Given the description of an element on the screen output the (x, y) to click on. 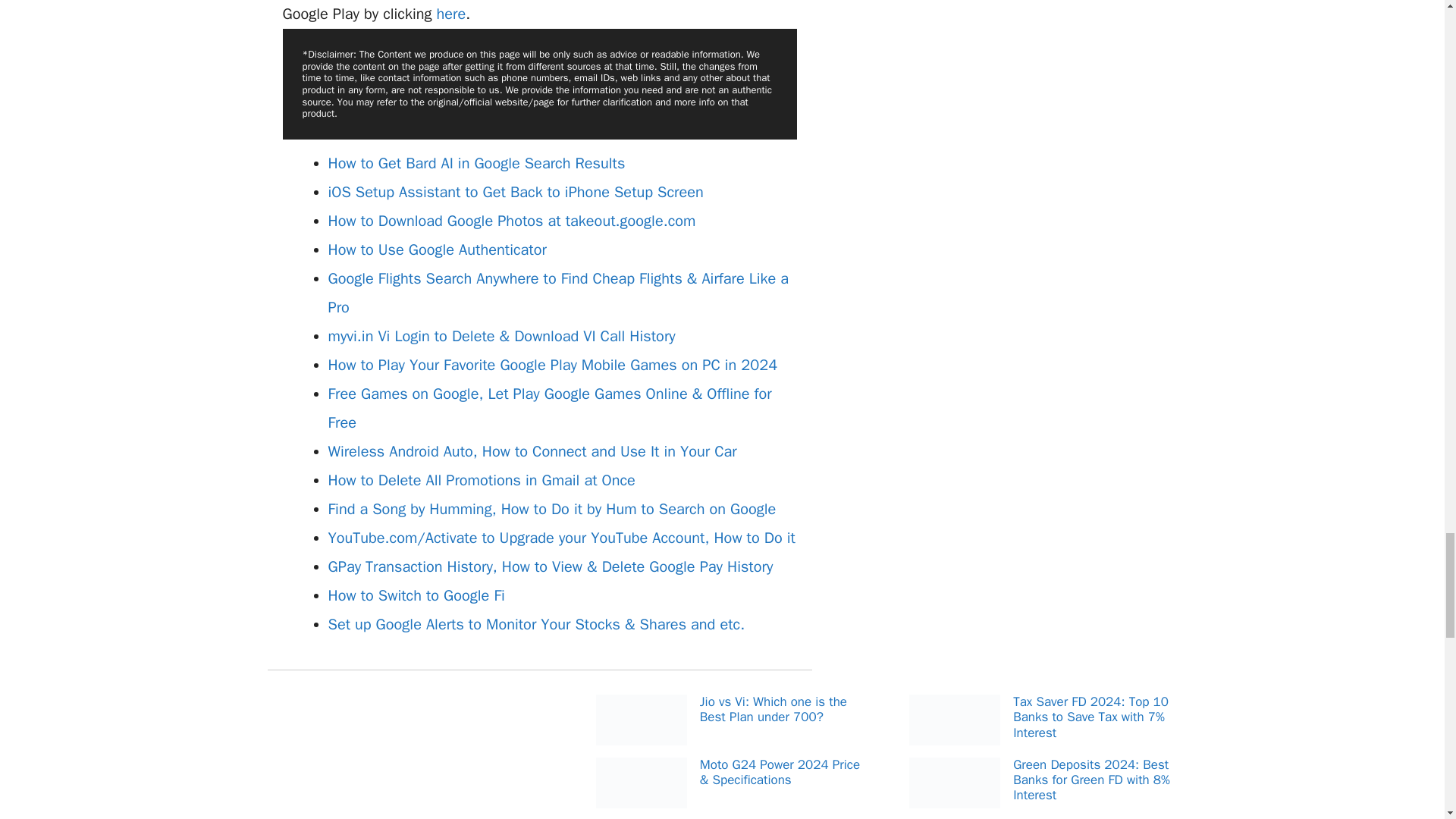
How to Delete All Promotions in Gmail at Once (480, 479)
How to Use Google Authenticator (436, 249)
iOS Setup Assistant to Get Back to iPhone Setup Screen (515, 191)
Wireless Android Auto, How to Connect and Use It in Your Car (531, 451)
How to Switch to Google Fi (415, 595)
here (450, 13)
How to Download Google Photos at takeout.google.com (511, 220)
How to Get Bard AI in Google Search Results (475, 162)
